Given the description of an element on the screen output the (x, y) to click on. 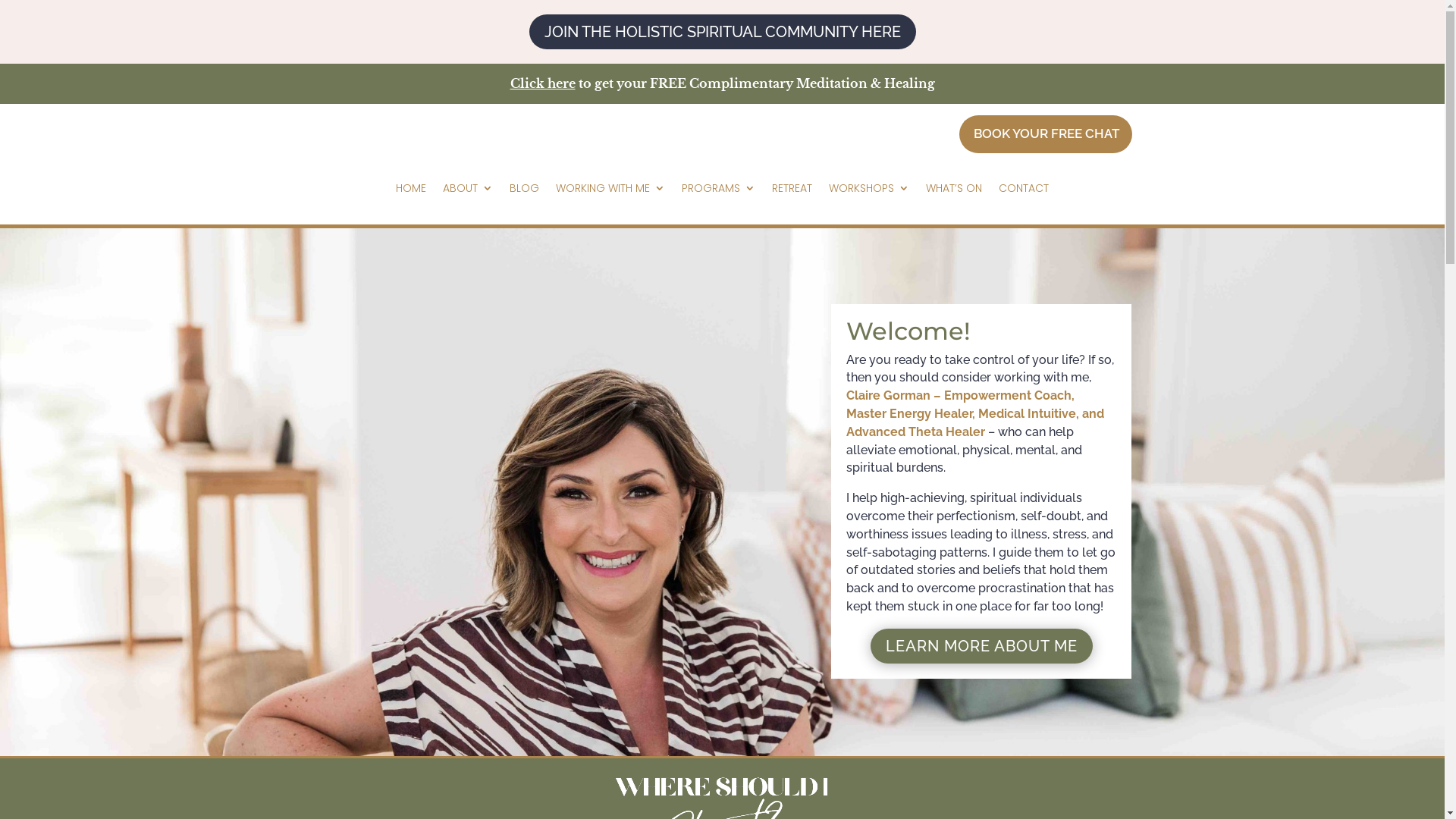
BOOK YOUR FREE CHAT Element type: text (1044, 134)
WORKSHOPS Element type: text (868, 187)
ABOUT Element type: text (467, 187)
LEARN MORE ABOUT ME Element type: text (981, 645)
PROGRAMS Element type: text (718, 187)
HOME Element type: text (410, 187)
CONTACT Element type: text (1023, 187)
BLOG Element type: text (524, 187)
JOIN THE HOLISTIC SPIRITUAL COMMUNITY HERE Element type: text (722, 31)
RETREAT Element type: text (791, 187)
WORKING WITH ME Element type: text (610, 187)
